Given the description of an element on the screen output the (x, y) to click on. 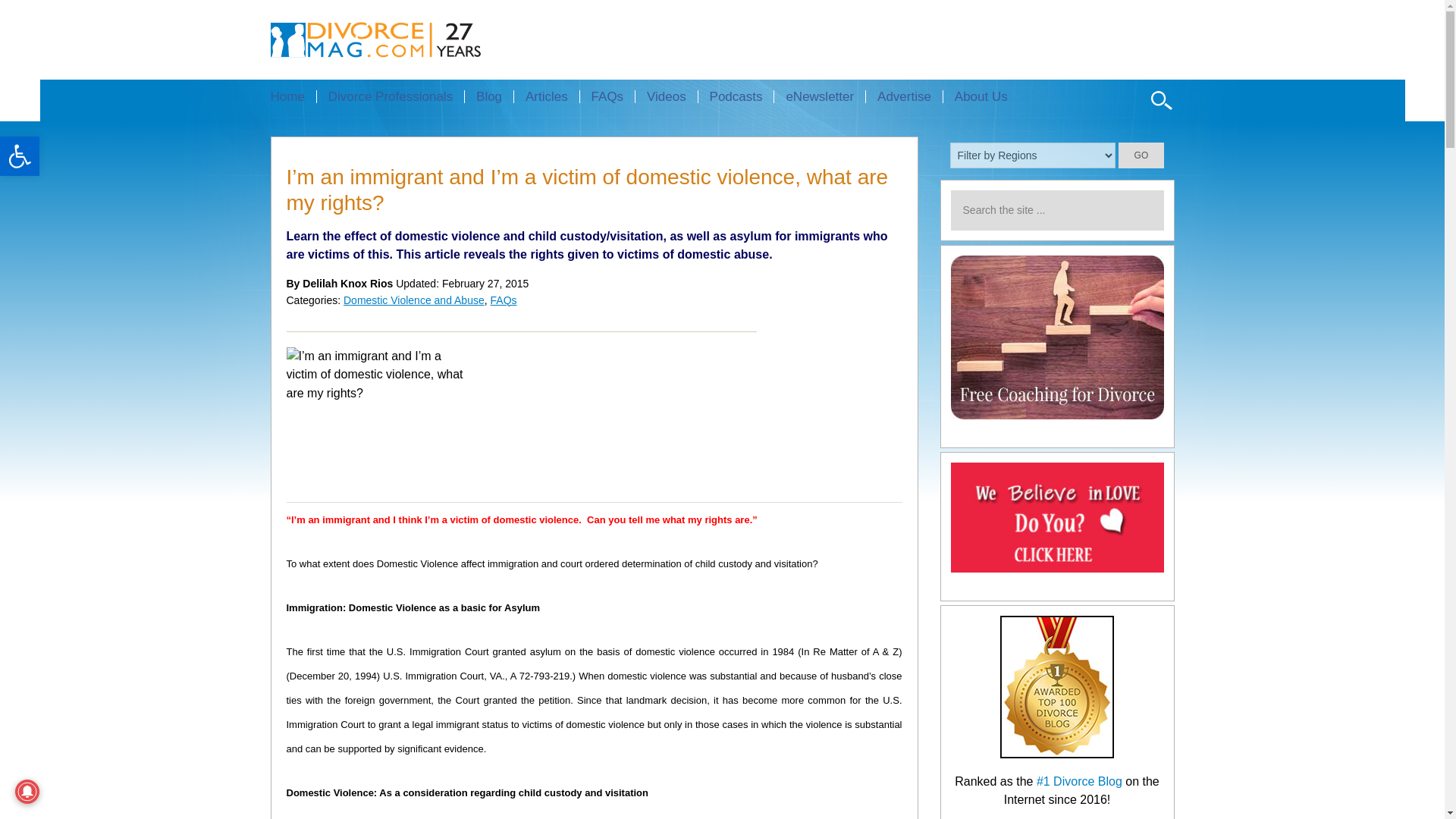
Accessibility Tools (19, 156)
Open toolbar (19, 156)
Divorce Magazine (401, 39)
Divorce Professionals (389, 96)
Home (292, 96)
Select Region (1032, 155)
Blog (488, 96)
Articles (546, 96)
